Given the description of an element on the screen output the (x, y) to click on. 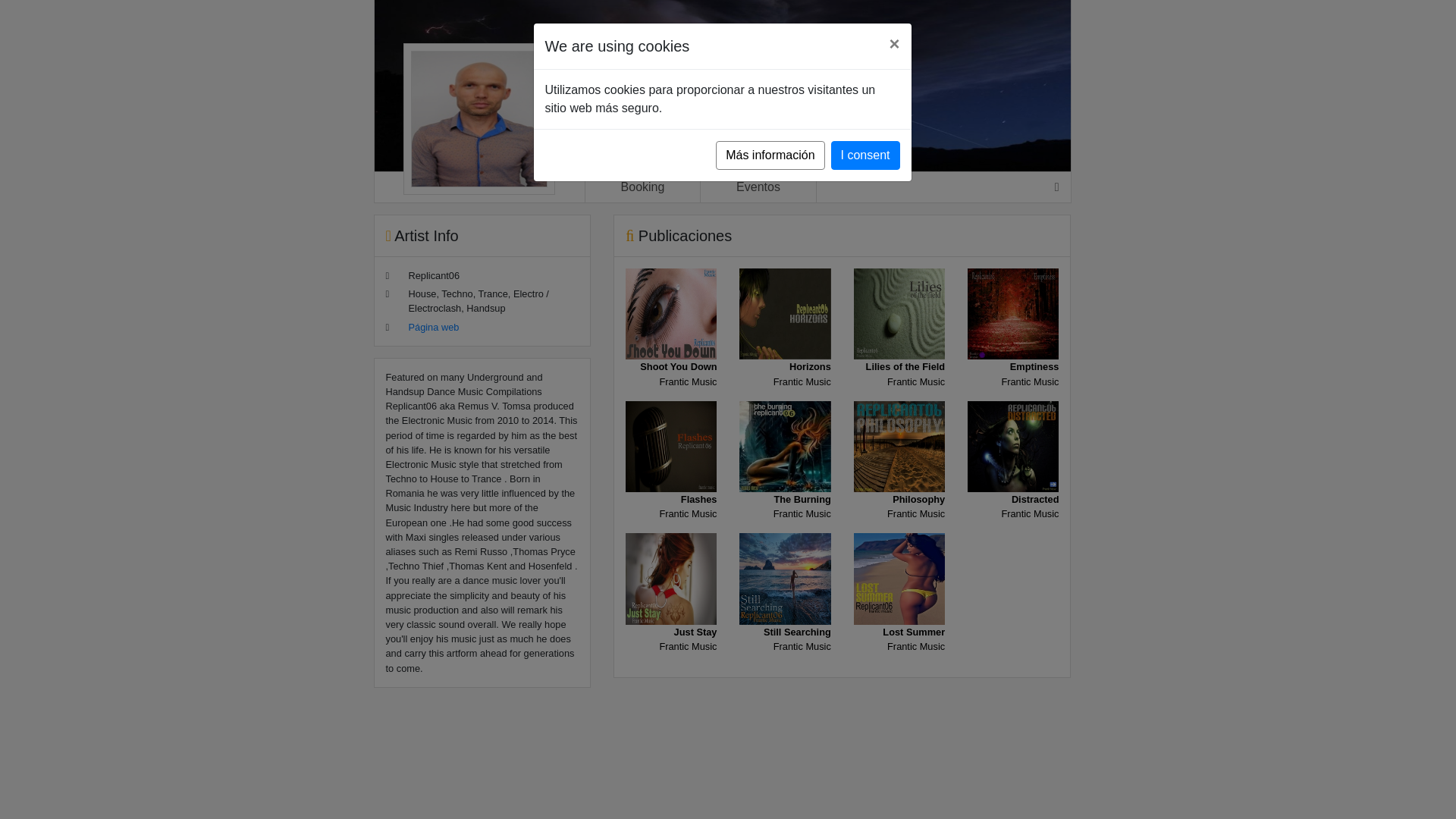
Eventos (784, 479)
Booking (898, 612)
